Given the description of an element on the screen output the (x, y) to click on. 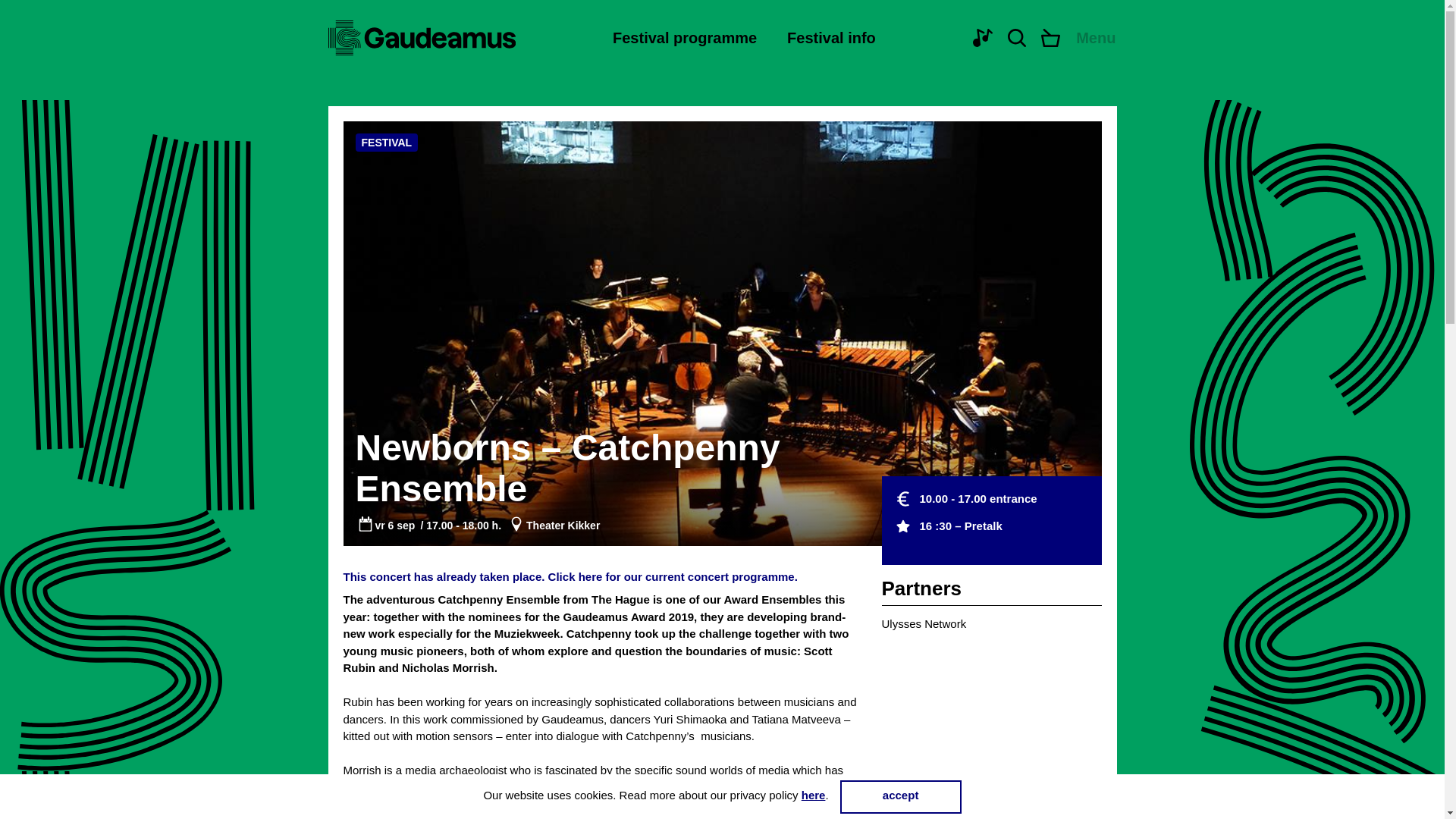
Festival info (831, 37)
Menu (1095, 37)
here (813, 794)
accept (900, 796)
Festival programme (684, 37)
